Given the description of an element on the screen output the (x, y) to click on. 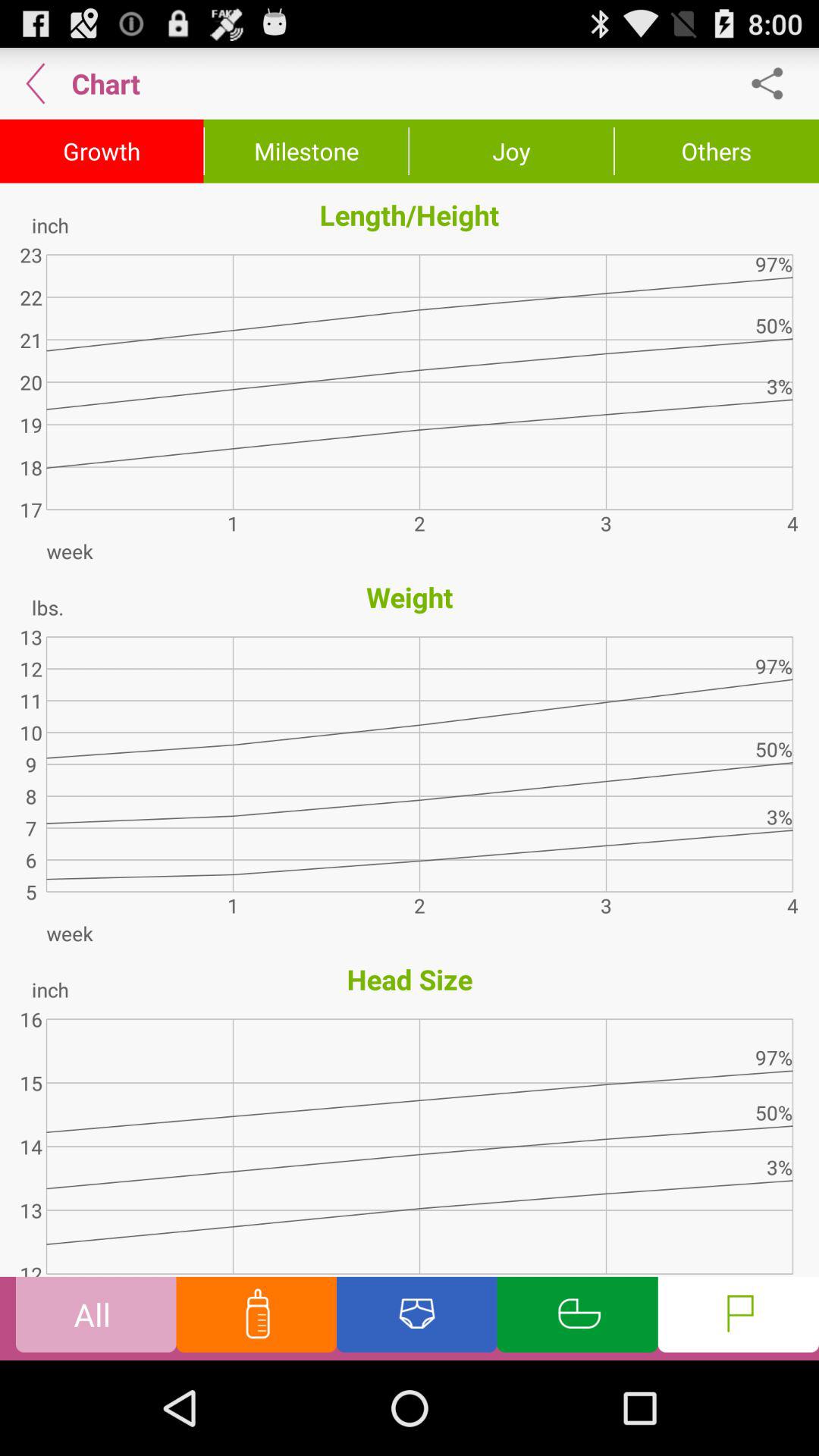
open icon above the length/height (716, 151)
